Given the description of an element on the screen output the (x, y) to click on. 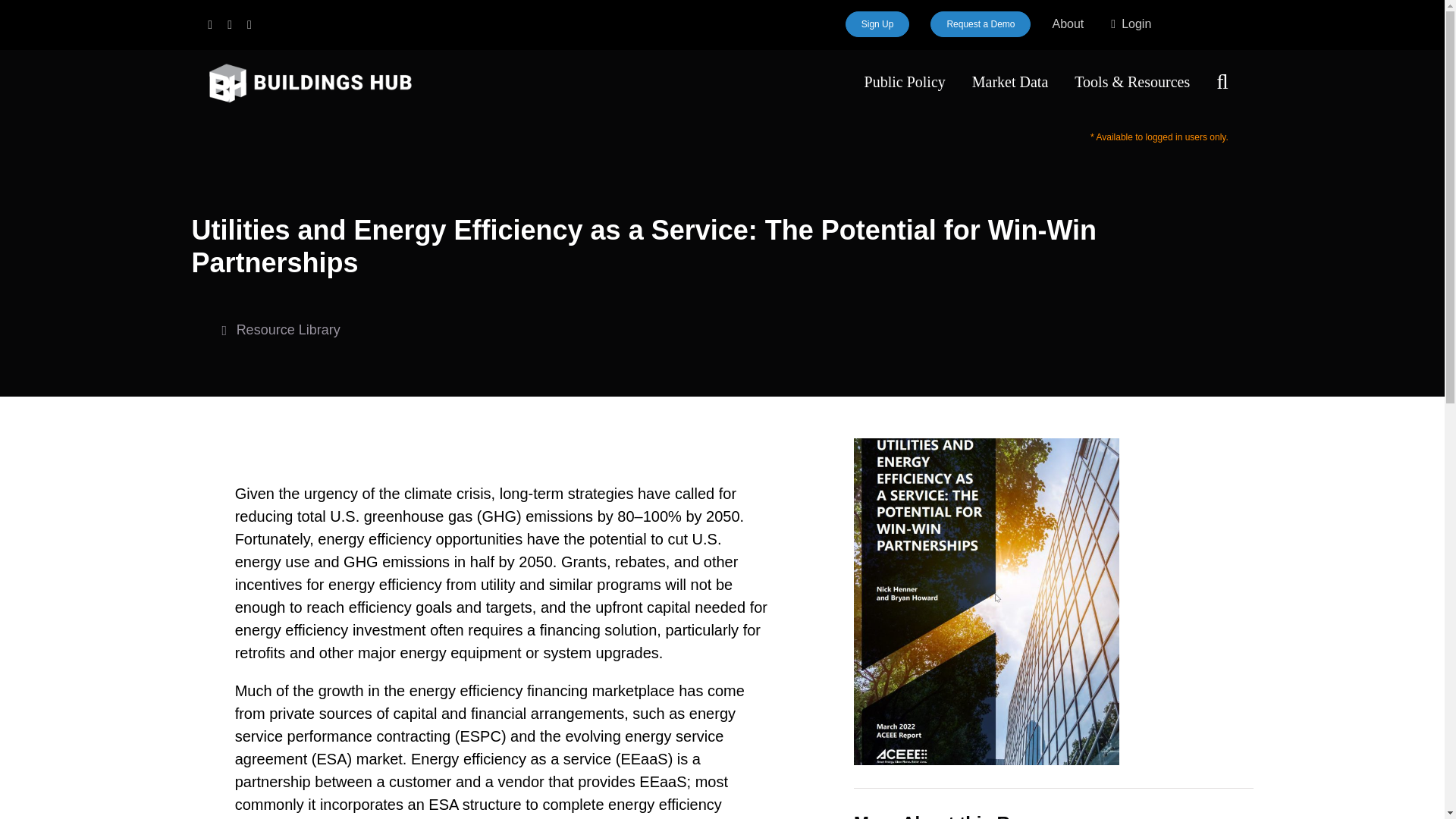
About (1067, 24)
Resource Library (279, 330)
Sign Up (877, 23)
Market Data (1010, 81)
Login (1128, 24)
Public Policy (904, 81)
Request a Demo (980, 23)
